Given the description of an element on the screen output the (x, y) to click on. 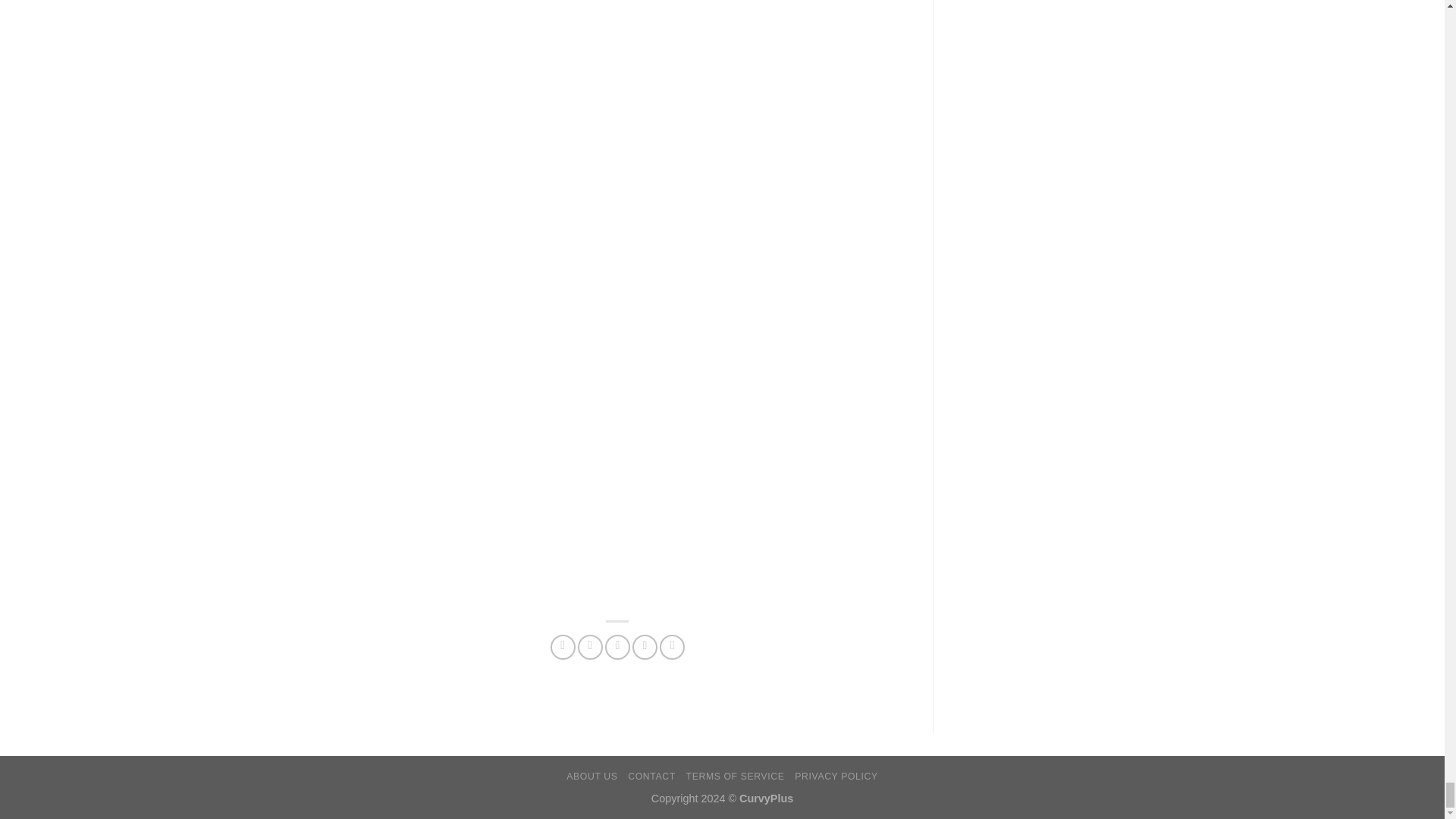
Email to a Friend (617, 647)
Pin on Pinterest (644, 647)
Share on Twitter (590, 647)
Share on Facebook (562, 647)
Share on LinkedIn (671, 647)
